Given the description of an element on the screen output the (x, y) to click on. 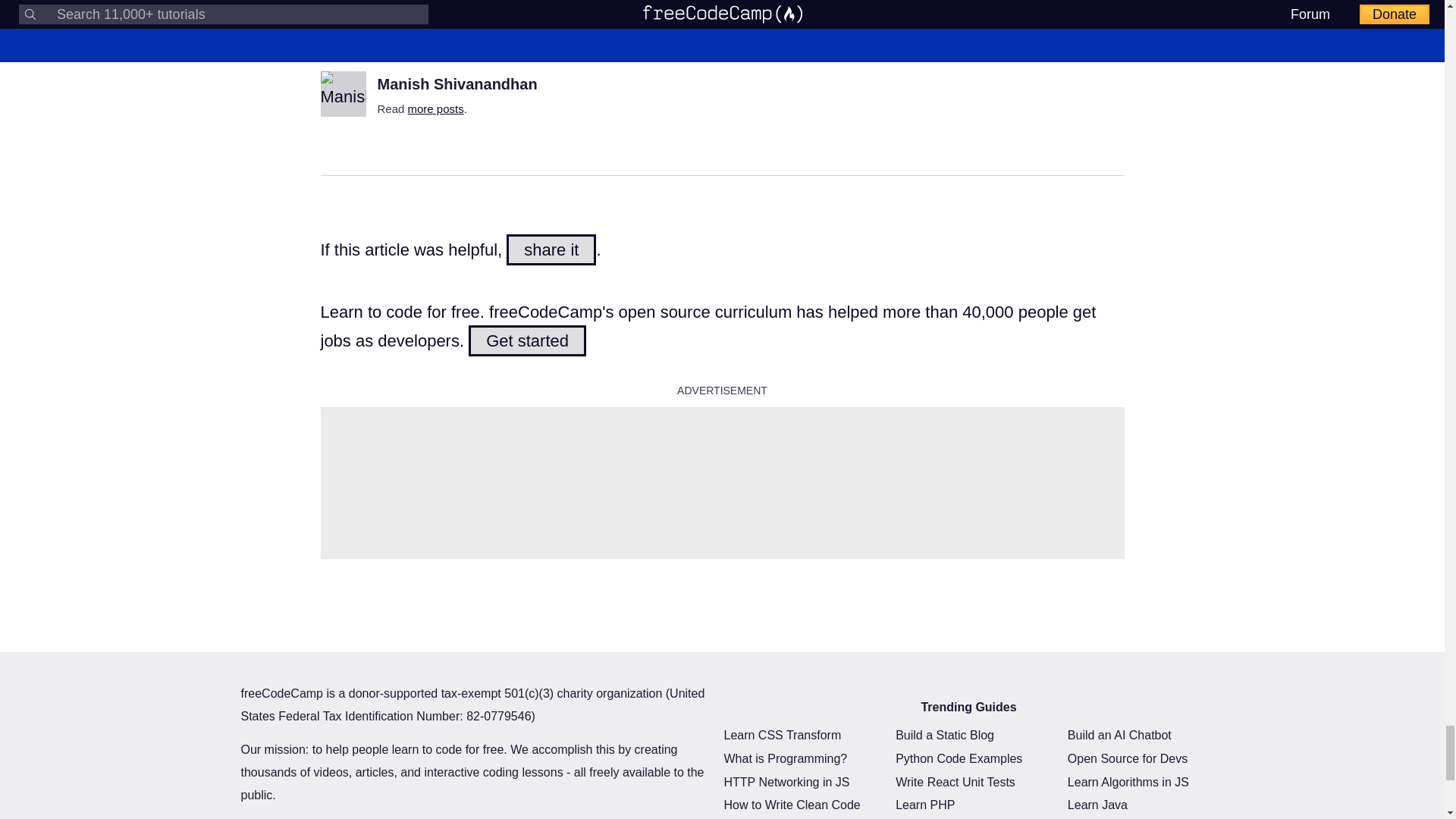
Learn PHP (924, 804)
Open Source for Devs (1127, 758)
Build an AI Chatbot (1119, 734)
Get started (527, 340)
share it (550, 249)
Manish Shivanandhan (457, 84)
Python Code Examples (958, 758)
What is Programming? (785, 758)
Learn CSS Transform (782, 734)
HTTP Networking in JS (786, 781)
